Given the description of an element on the screen output the (x, y) to click on. 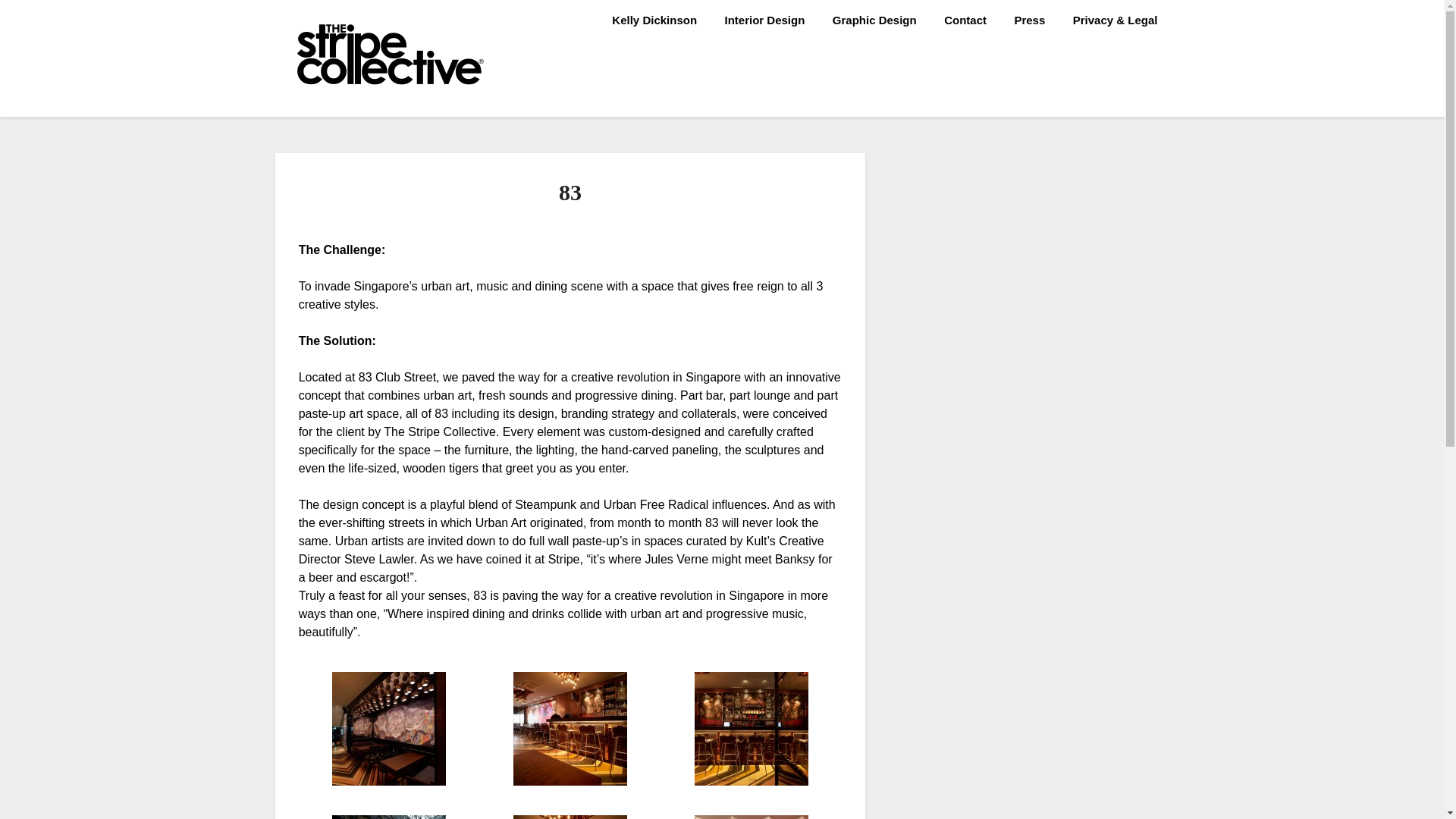
Press (1029, 20)
Graphic Design (874, 20)
Interior Design (764, 20)
Kelly Dickinson (654, 20)
Contact (964, 20)
